Given the description of an element on the screen output the (x, y) to click on. 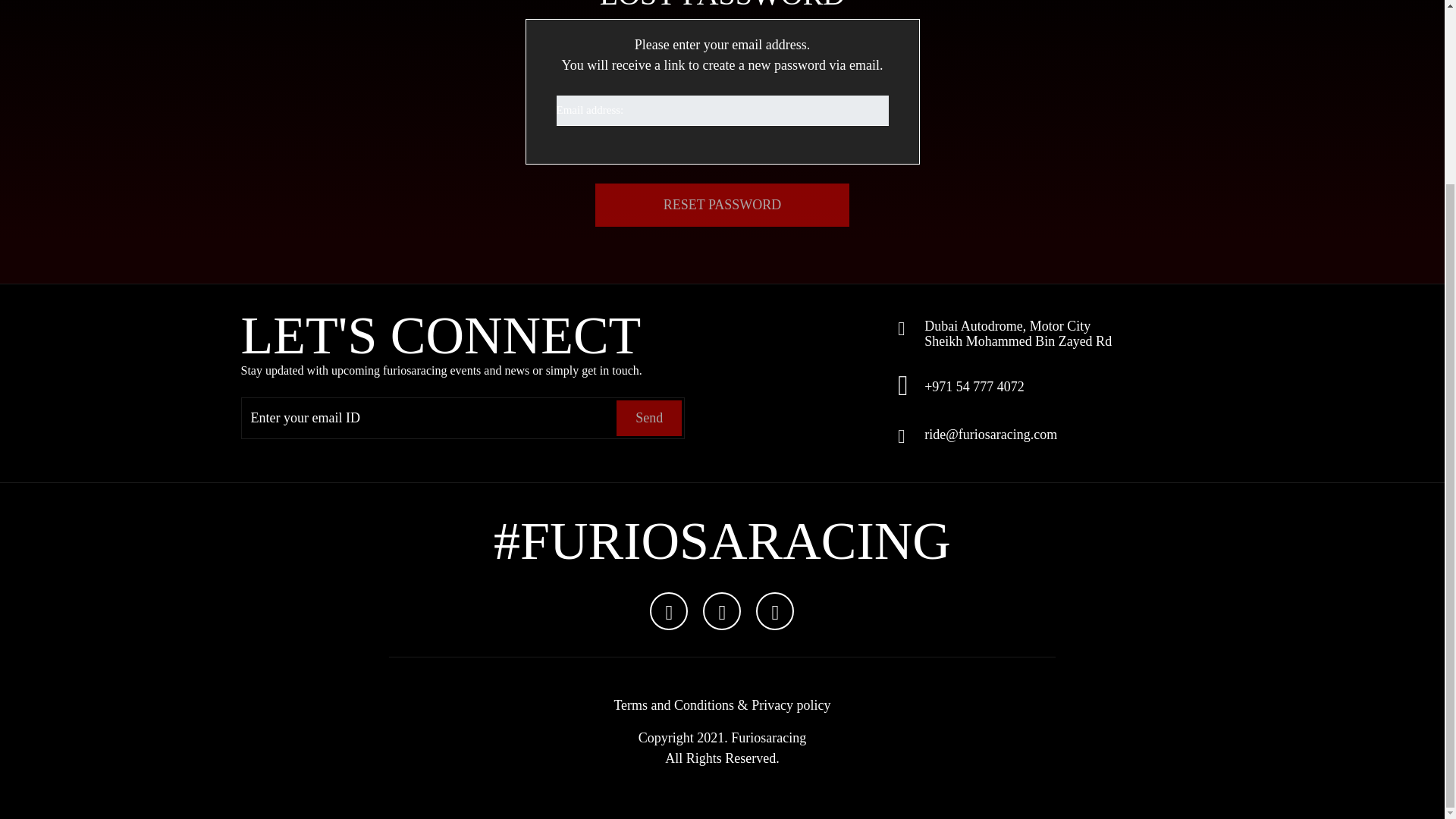
Send (648, 416)
